Given the description of an element on the screen output the (x, y) to click on. 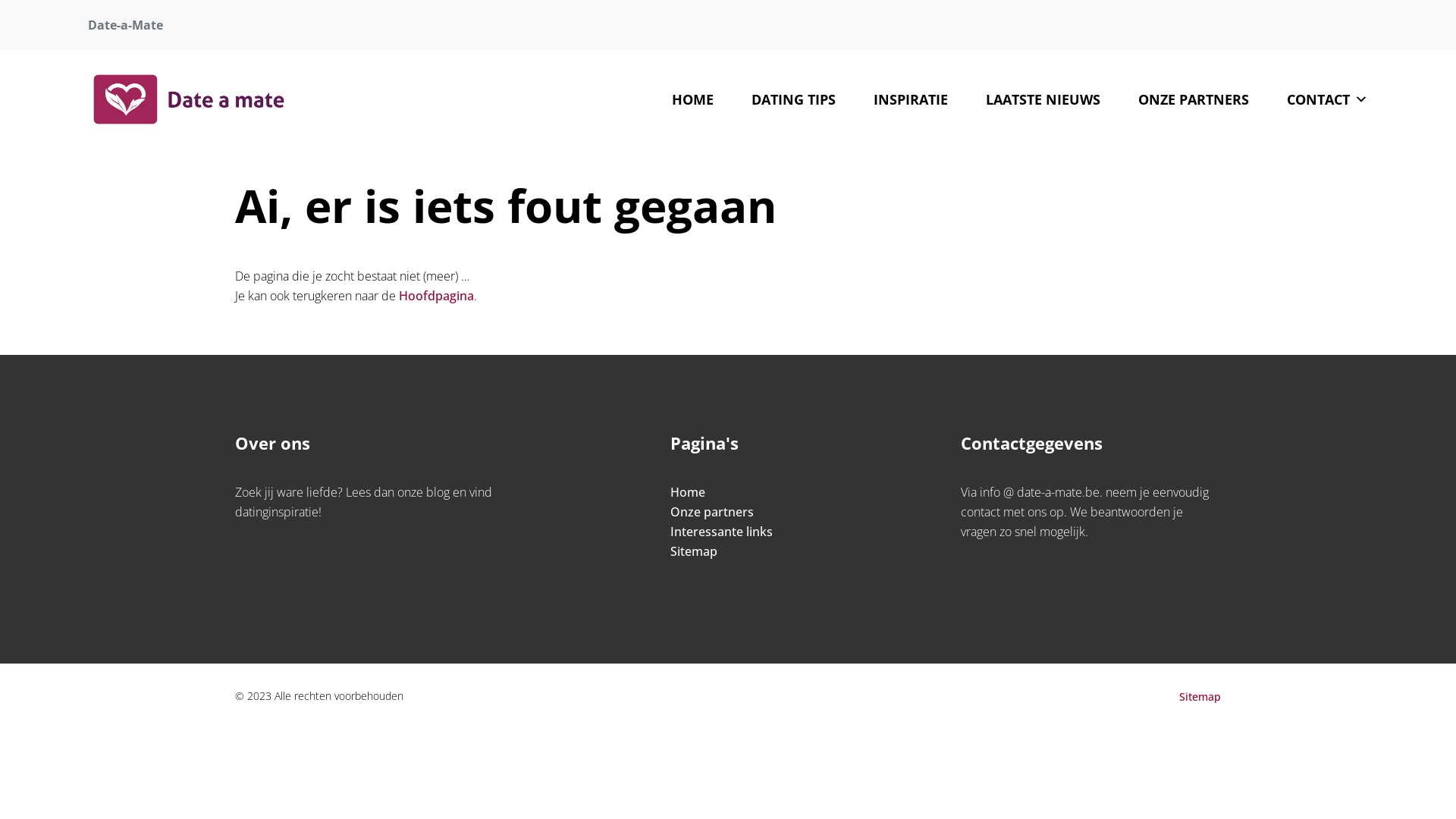
HOME Element type: text (692, 99)
ONZE PARTNERS Element type: text (1193, 99)
Sitemap Element type: text (693, 550)
Home Element type: text (687, 491)
Onze partners Element type: text (711, 511)
Date a mate Element type: hover (188, 99)
Interessante links Element type: text (721, 531)
LAATSTE NIEUWS Element type: text (1042, 99)
INSPIRATIE Element type: text (910, 99)
CONTACT Element type: text (1326, 99)
DATING TIPS Element type: text (793, 99)
Sitemap Element type: text (1199, 696)
Hoofdpagina Element type: text (435, 295)
